Given the description of an element on the screen output the (x, y) to click on. 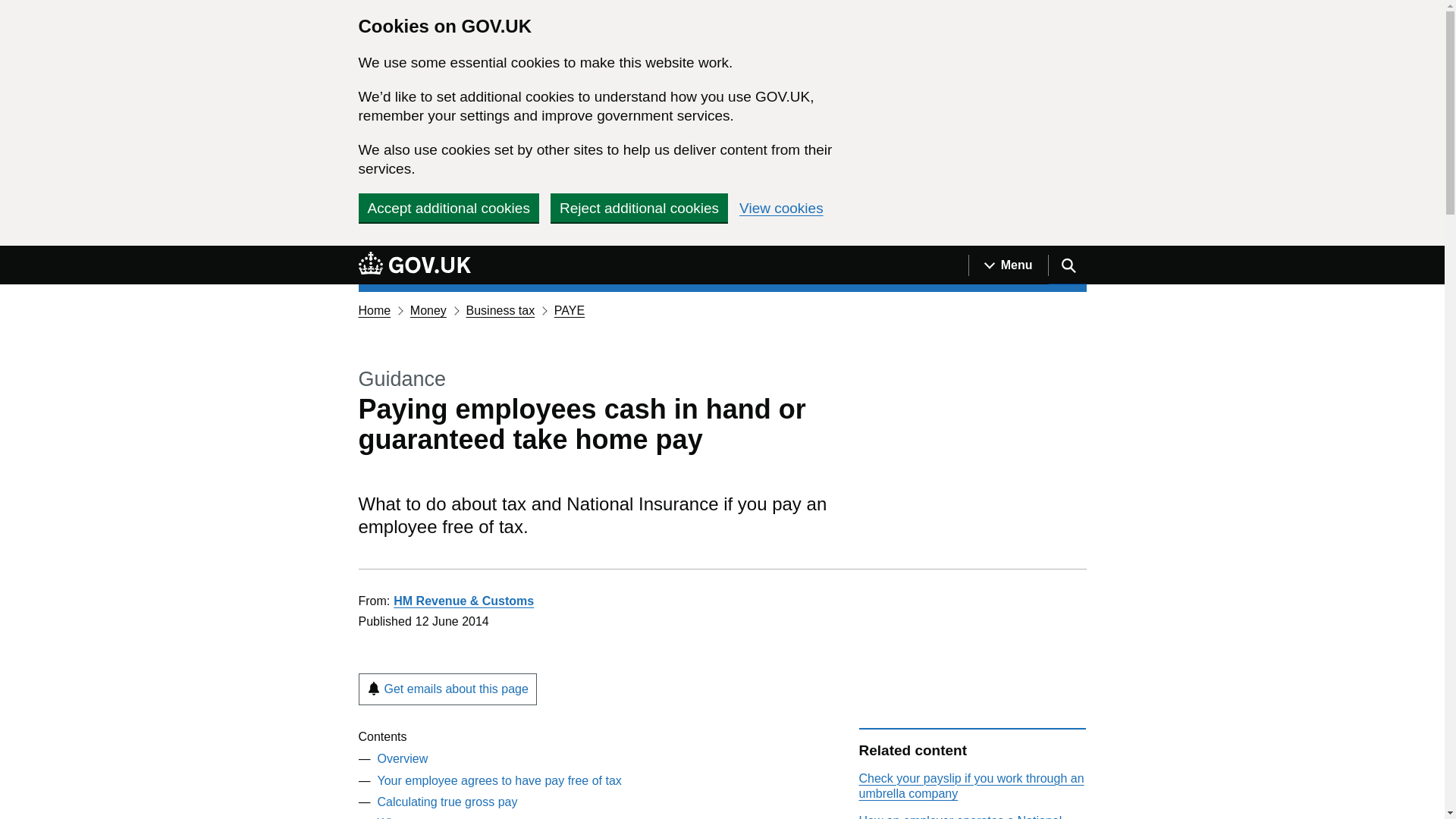
Menu (1008, 265)
Home (374, 309)
Search GOV.UK (1067, 265)
What to report (415, 817)
Skip to main content (11, 254)
Reject additional cookies (639, 207)
Accept additional cookies (448, 207)
Overview (402, 758)
PAYE (569, 309)
Calculating true gross pay (447, 801)
Money (428, 309)
GOV.UK (414, 262)
Your employee agrees to have pay free of tax (499, 780)
Check your payslip if you work through an umbrella company (971, 786)
View cookies (781, 207)
